Given the description of an element on the screen output the (x, y) to click on. 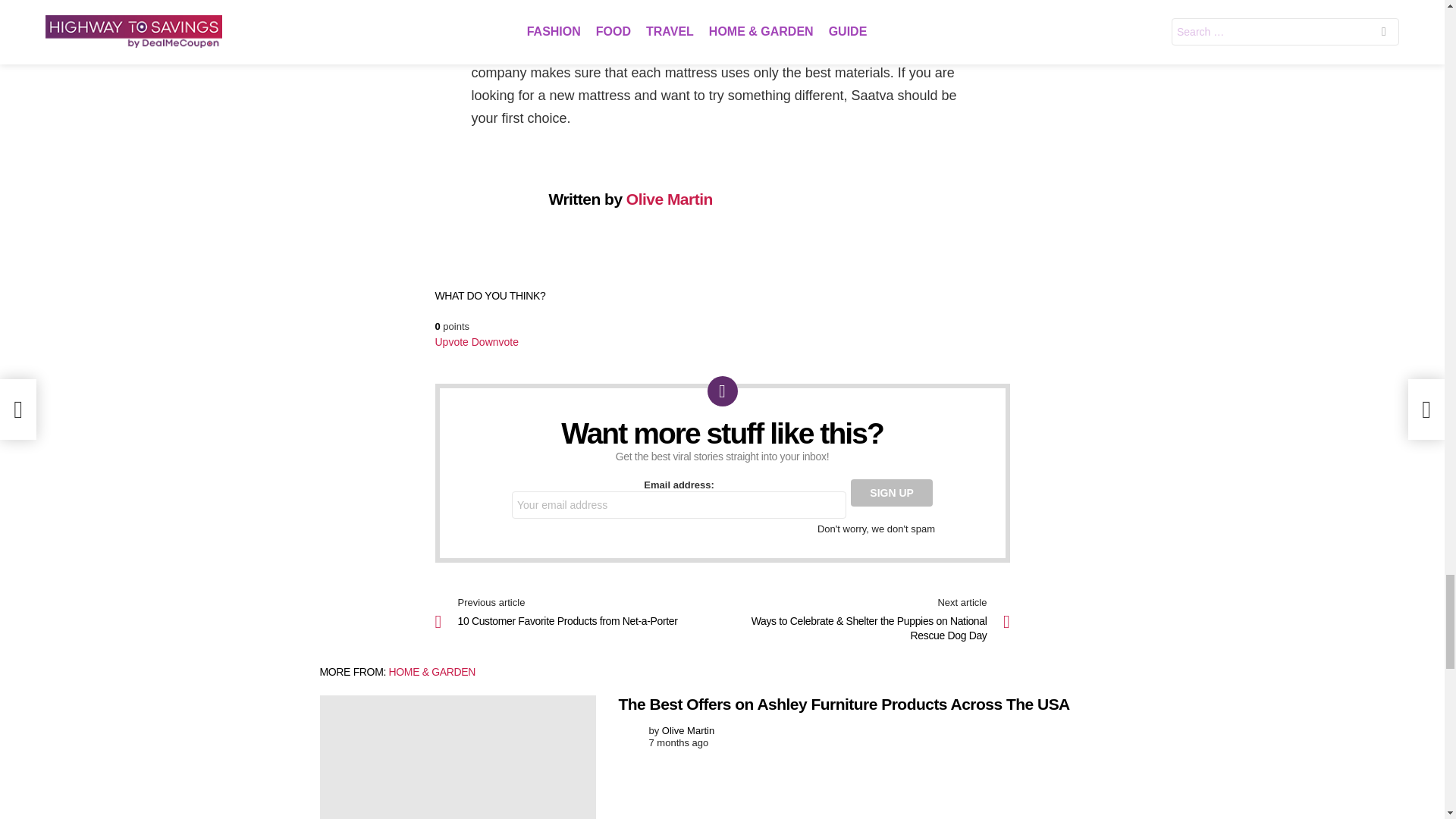
Upvote (451, 341)
Olive Martin (669, 199)
Posts by Olive Martin (688, 730)
Upvote (451, 341)
Downvote (494, 341)
The Best Offers on Ashley Furniture Products Across The USA (457, 757)
Olive Martin (688, 730)
Downvote (494, 341)
Sign up (891, 492)
The Best Offers on Ashley Furniture Products Across The USA (844, 703)
January 4, 2024, 6:51 am (679, 743)
Sign up (891, 492)
